Given the description of an element on the screen output the (x, y) to click on. 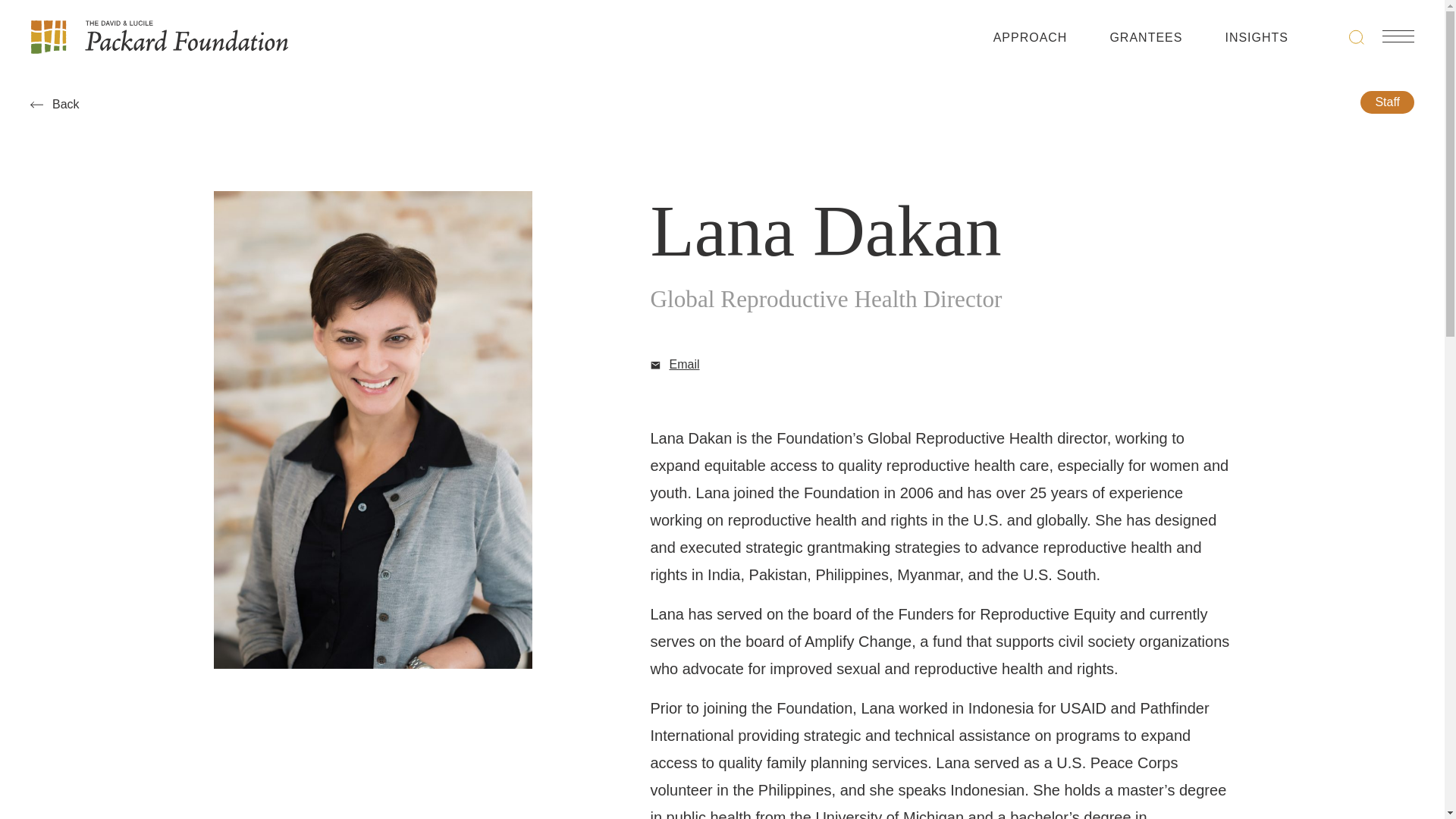
Back (55, 103)
Email (675, 364)
GRANTEES (1145, 40)
The David and Lucile Packard Foundation (159, 36)
APPROACH (1029, 40)
Search (1356, 36)
INSIGHTS (1256, 40)
Navigation Toggle (1397, 36)
